Given the description of an element on the screen output the (x, y) to click on. 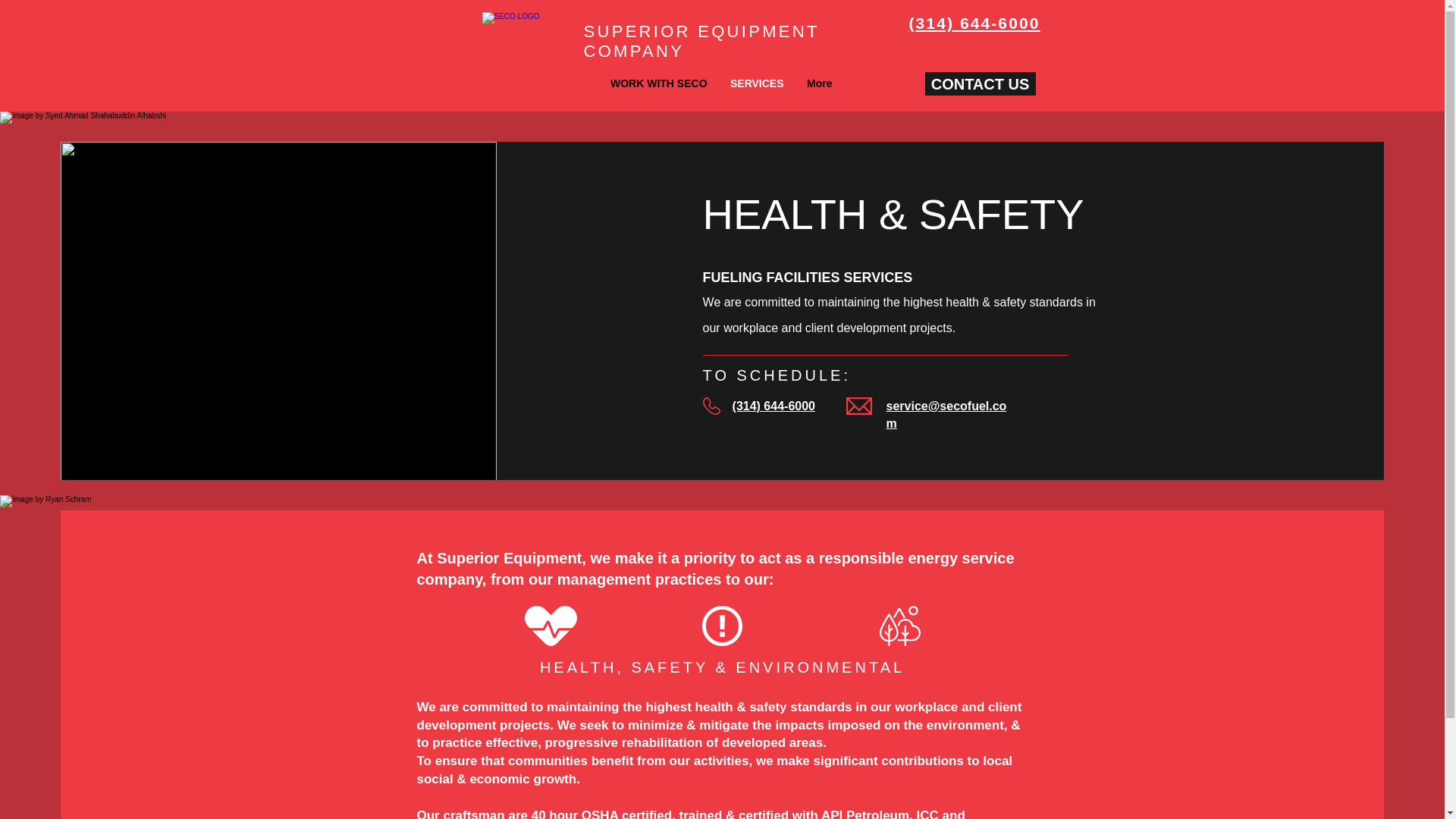
SERVICES (756, 83)
WORK WITH SECO (658, 83)
CONTACT US (979, 83)
SUPERIOR EQUIPMENT COMPANY (701, 41)
